Given the description of an element on the screen output the (x, y) to click on. 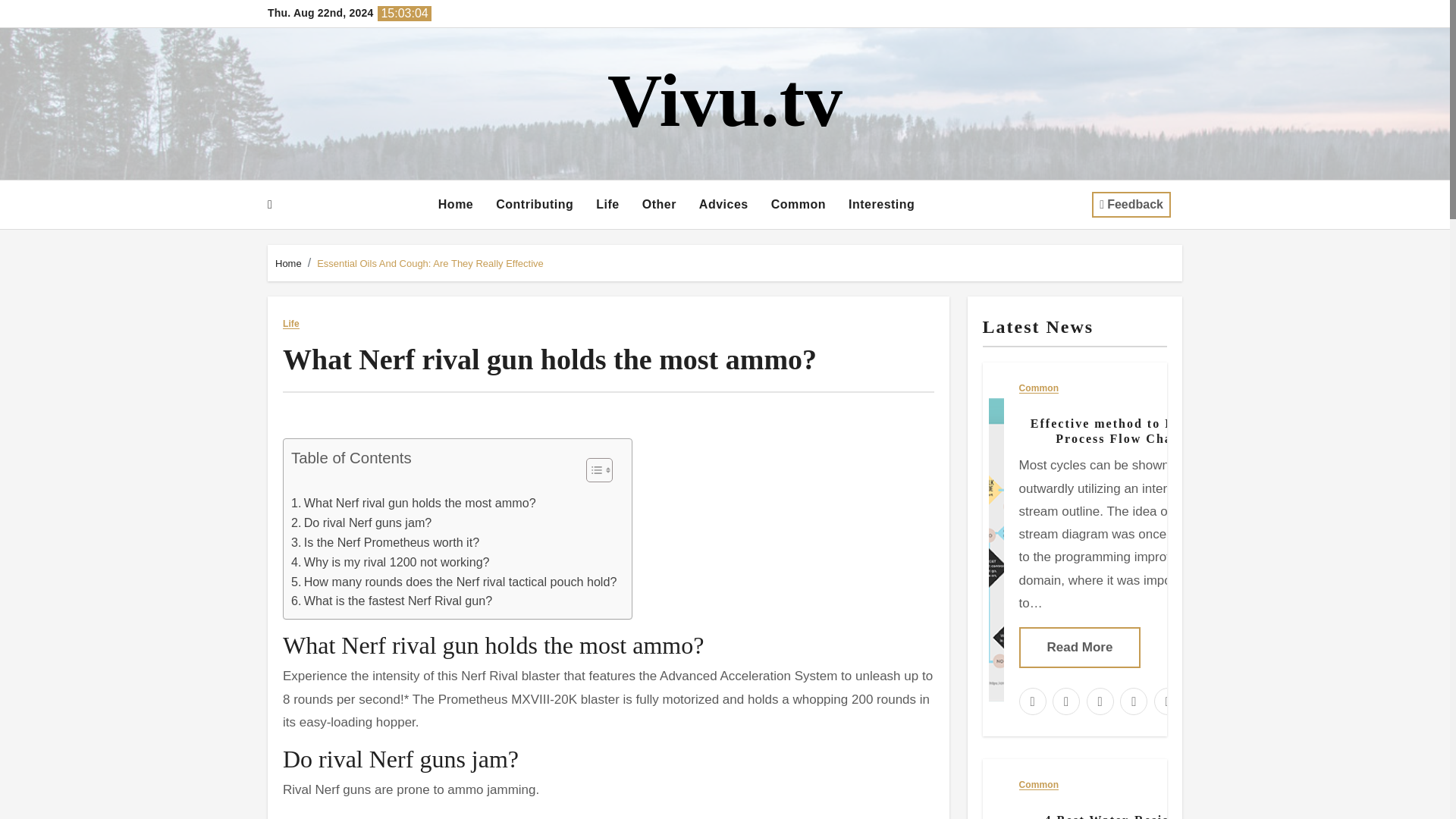
How many rounds does the Nerf rival tactical pouch hold? (453, 582)
What is the fastest Nerf Rival gun? (391, 600)
Common (798, 204)
Common (798, 204)
Other (658, 204)
Interesting (881, 204)
Permalink to: What Nerf rival gun holds the most ammo? (549, 359)
Is the Nerf Prometheus worth it? (385, 542)
Contributing (534, 204)
Life (607, 204)
